Given the description of an element on the screen output the (x, y) to click on. 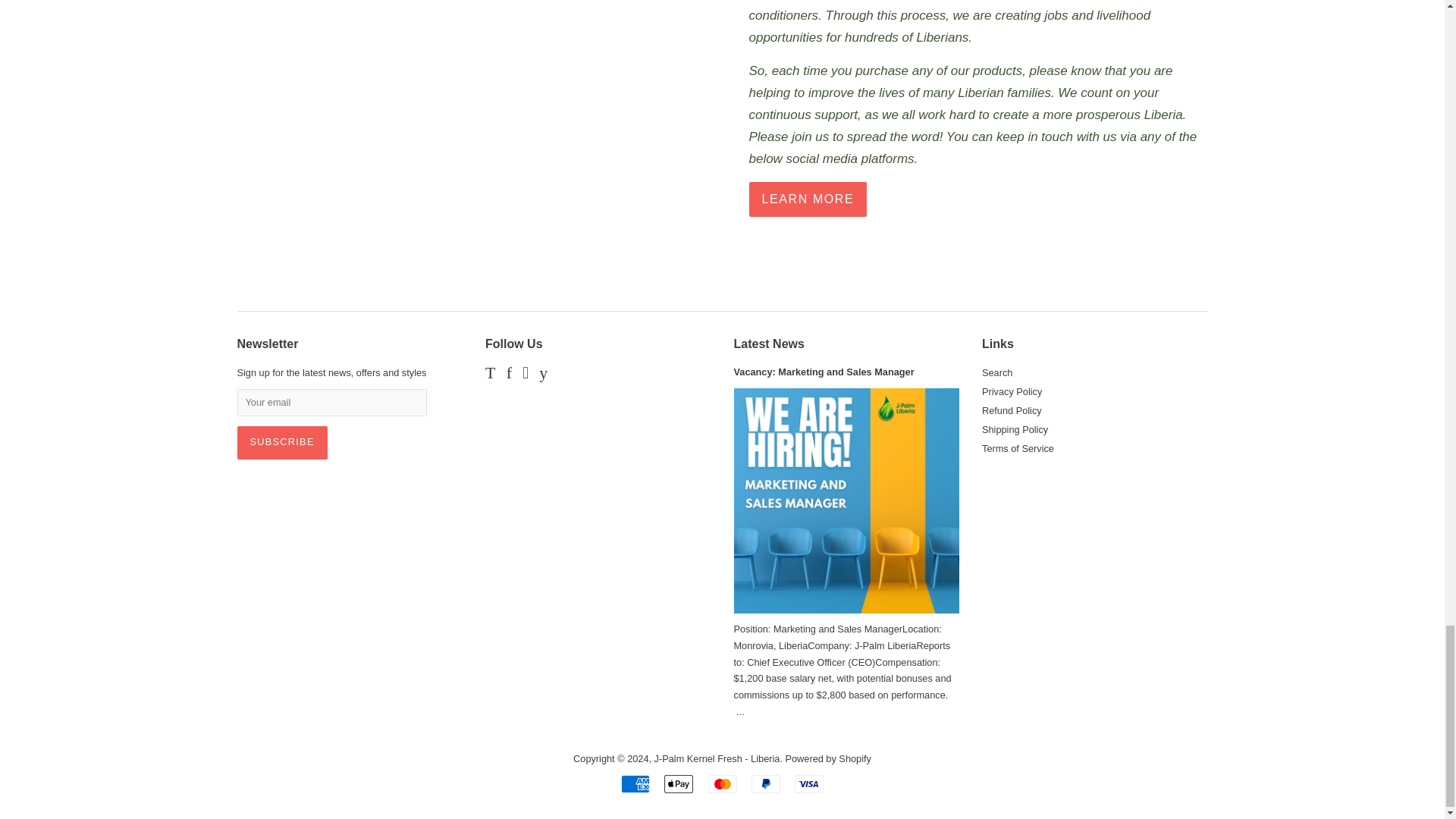
Subscribe (280, 442)
PayPal (765, 783)
American Express (635, 783)
Apple Pay (678, 783)
Visa (809, 783)
Mastercard (721, 783)
